Given the description of an element on the screen output the (x, y) to click on. 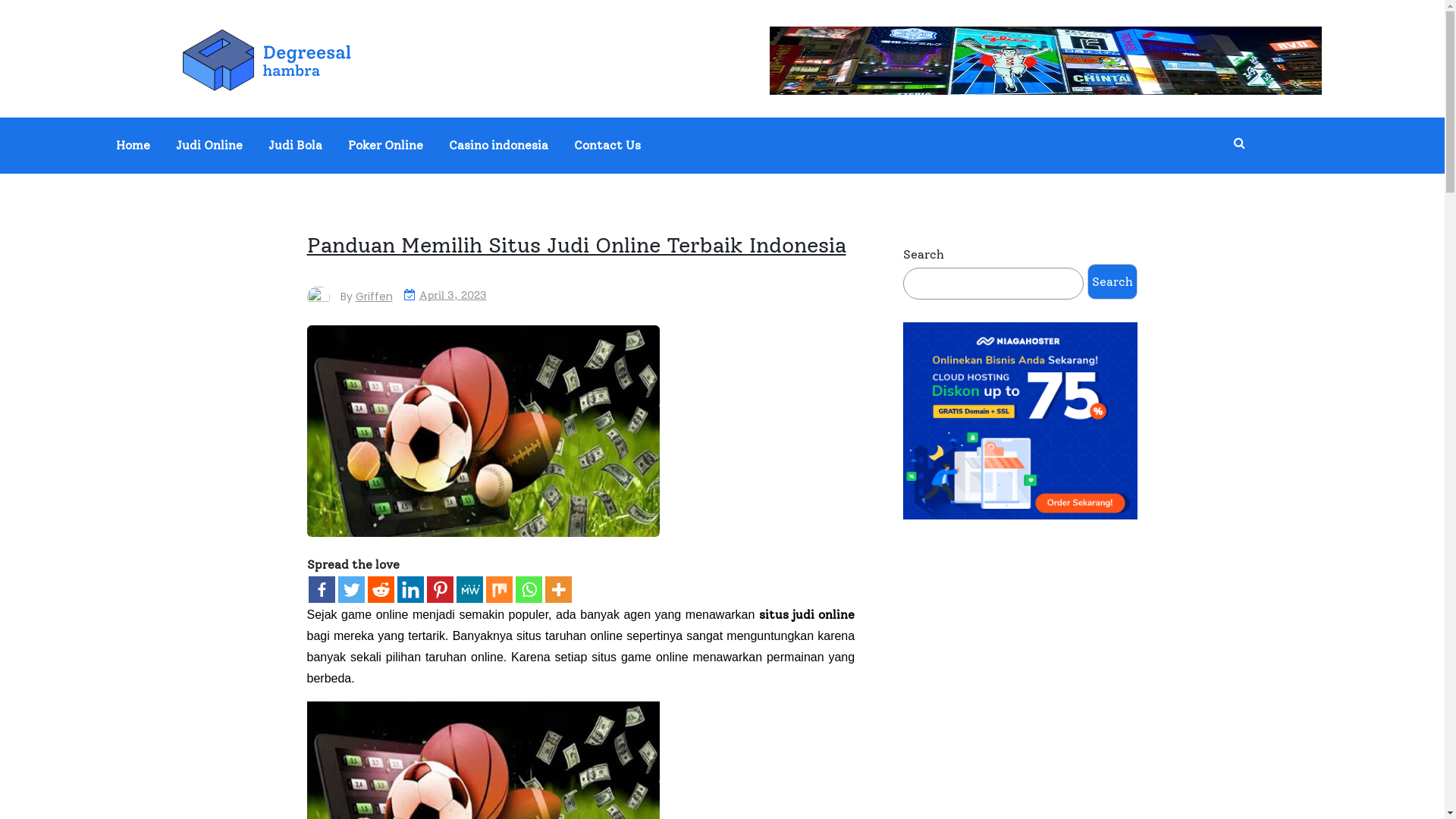
Twitter Element type: hover (351, 589)
Search Element type: text (1112, 281)
Pinterest Element type: hover (439, 589)
Mix Element type: hover (498, 589)
Casino indonesia Element type: text (498, 145)
Linkedin Element type: hover (410, 589)
Griffen Element type: text (373, 296)
Whatsapp Element type: hover (528, 589)
Facebook Element type: hover (320, 589)
More Element type: hover (557, 589)
Contact Us Element type: text (607, 145)
Poker Online Element type: text (385, 145)
Judi Bola Element type: text (295, 145)
Reddit Element type: hover (380, 589)
Judi Online Element type: text (209, 145)
Home Element type: text (132, 145)
Agen Judi Online Uang Asli Dan Bandar Judi Bola Indonesia Element type: text (431, 109)
MeWe Element type: hover (469, 589)
April 3, 2023 Element type: text (452, 294)
